Given the description of an element on the screen output the (x, y) to click on. 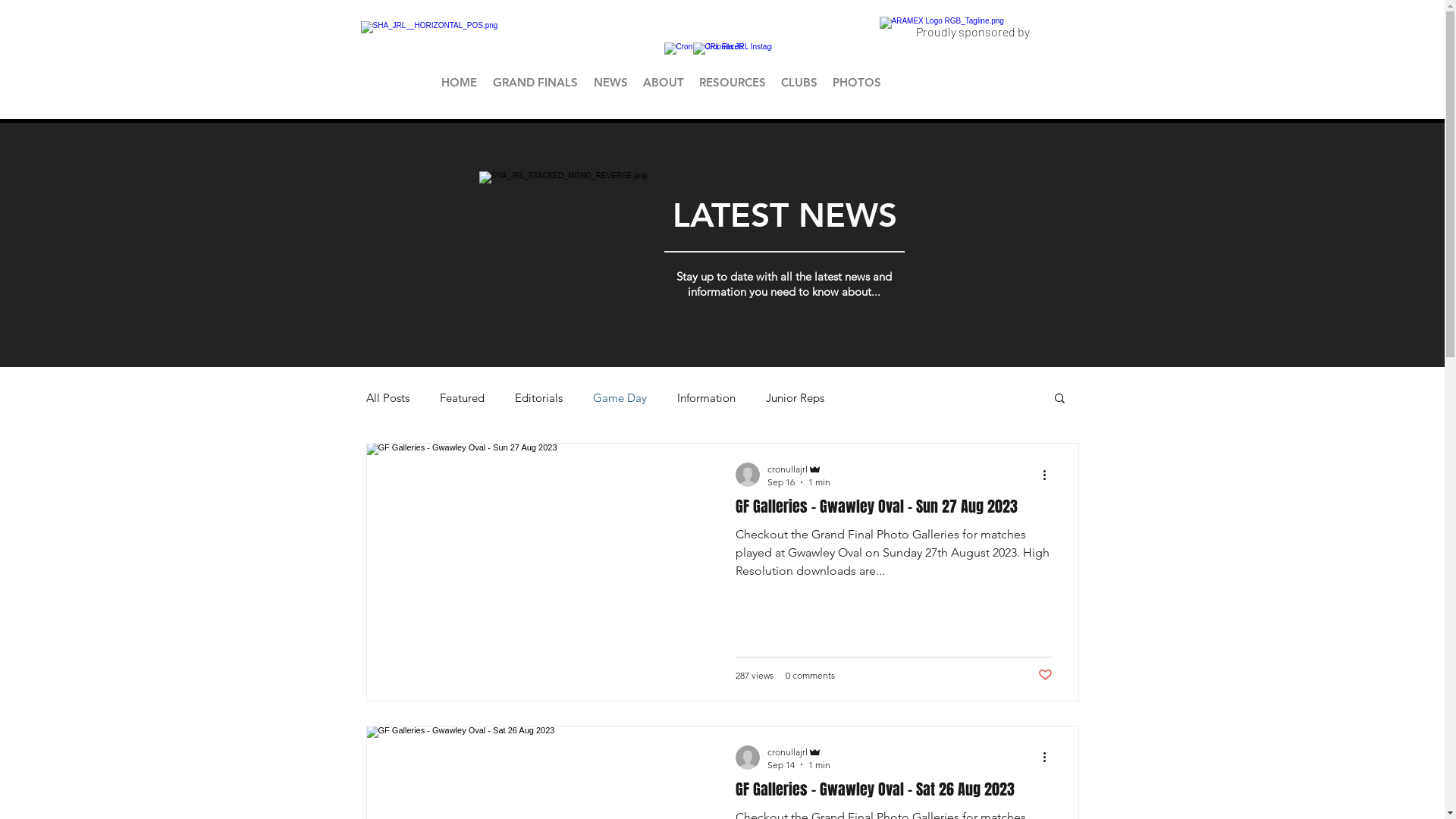
Featured Element type: text (461, 396)
GRAND FINALS Element type: text (535, 82)
Game Day Element type: text (619, 396)
CLUBS Element type: text (799, 82)
Information Element type: text (705, 396)
Post not marked as liked Element type: text (1044, 675)
Junior Reps Element type: text (794, 396)
PHOTOS Element type: text (856, 82)
NEWS Element type: text (609, 82)
HOME Element type: text (459, 82)
All Posts Element type: text (386, 396)
ABOUT Element type: text (663, 82)
GF Galleries - Gwawley Oval - Sat 26 Aug 2023 Element type: text (893, 793)
GF Galleries - Gwawley Oval - Sun 27 Aug 2023 Element type: text (893, 510)
Editorials Element type: text (537, 396)
RESOURCES Element type: text (732, 82)
0 comments Element type: text (809, 674)
